Given the description of an element on the screen output the (x, y) to click on. 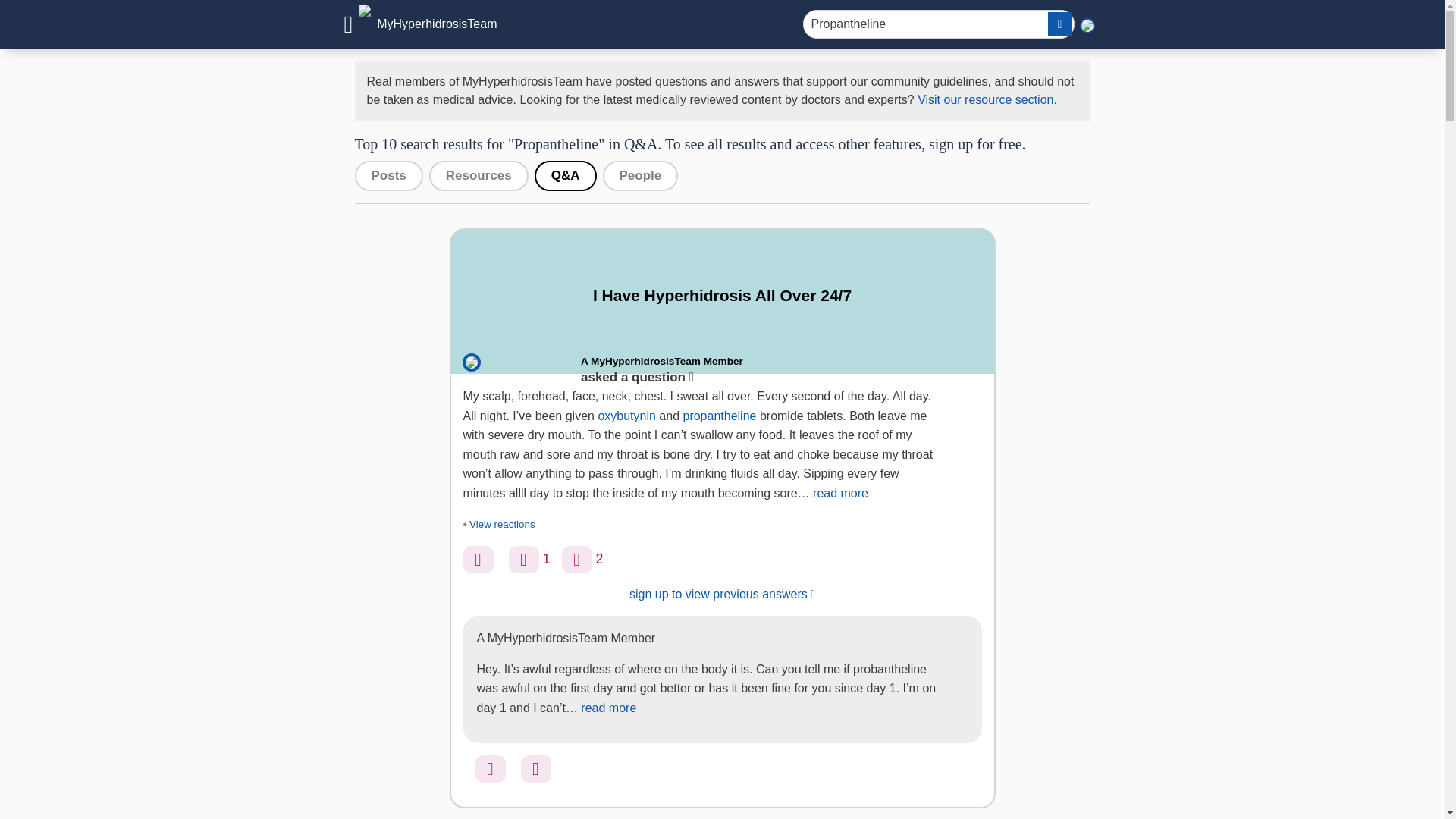
Posts (389, 175)
sign up to view previous answers (721, 594)
I like this (478, 559)
View reactions (501, 524)
Resources (478, 175)
Send a hug (534, 768)
A MyHyperhidrosisTeam Member (661, 360)
People (640, 175)
Send a hug (523, 559)
oxybutynin (626, 415)
read more (608, 707)
MyHyperhidrosisTeam (420, 23)
Add a comment (577, 559)
Visit our resource section. (987, 99)
read more (839, 492)
